Given the description of an element on the screen output the (x, y) to click on. 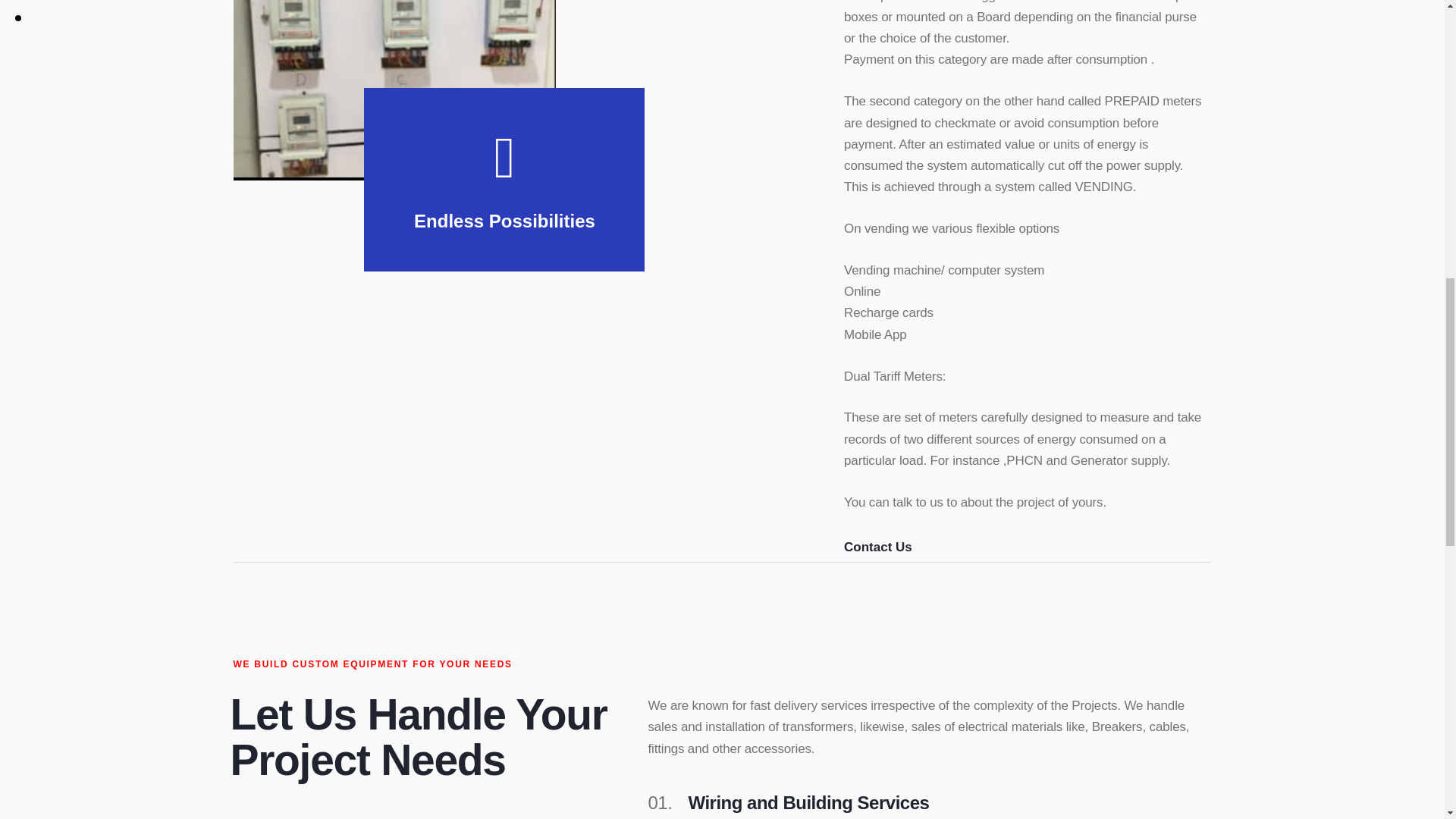
Contact Us (878, 550)
Metering Services (394, 90)
